Given the description of an element on the screen output the (x, y) to click on. 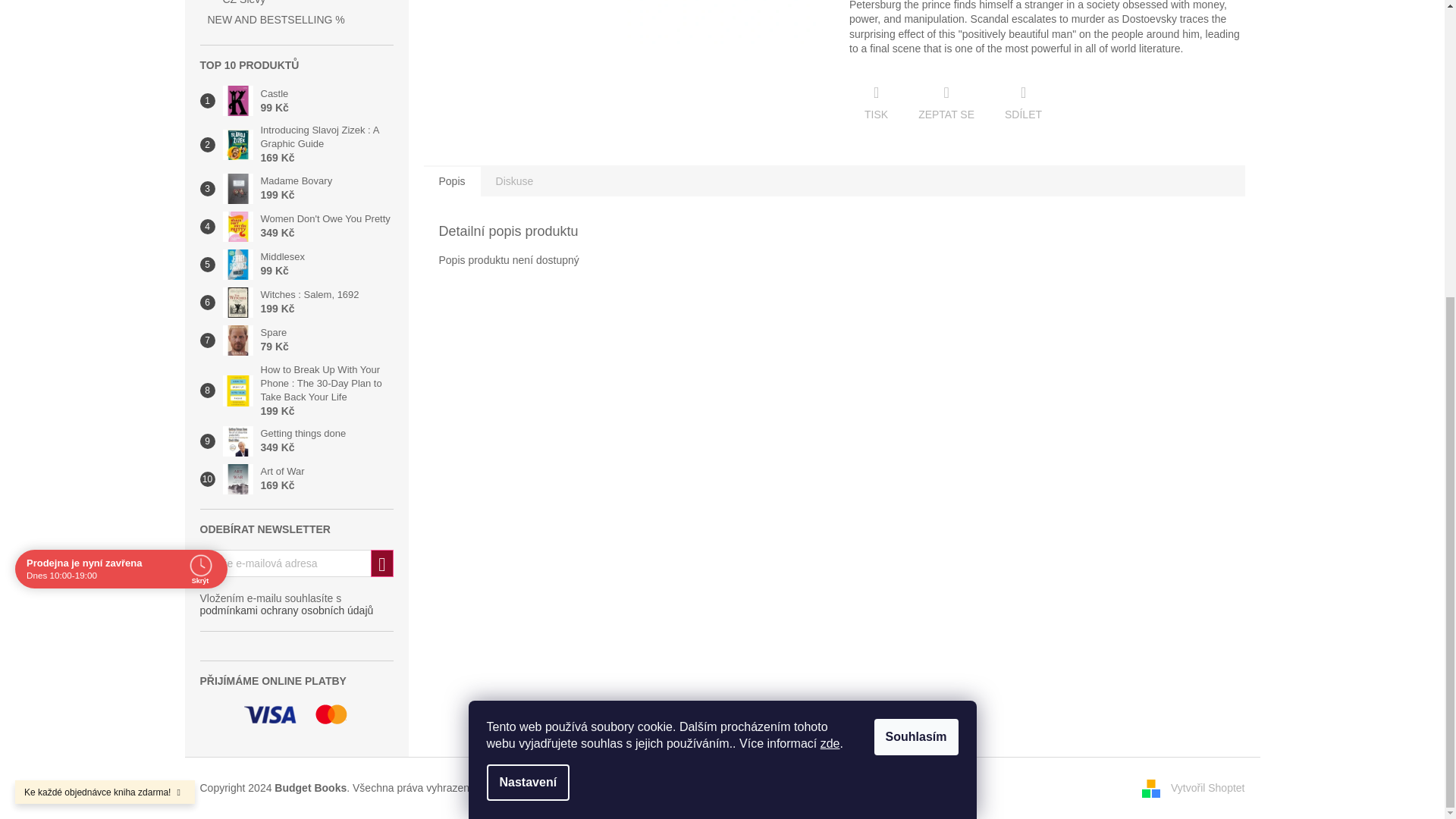
Tisknout produkt (875, 103)
Mluvit s prodejcem (946, 103)
